Given the description of an element on the screen output the (x, y) to click on. 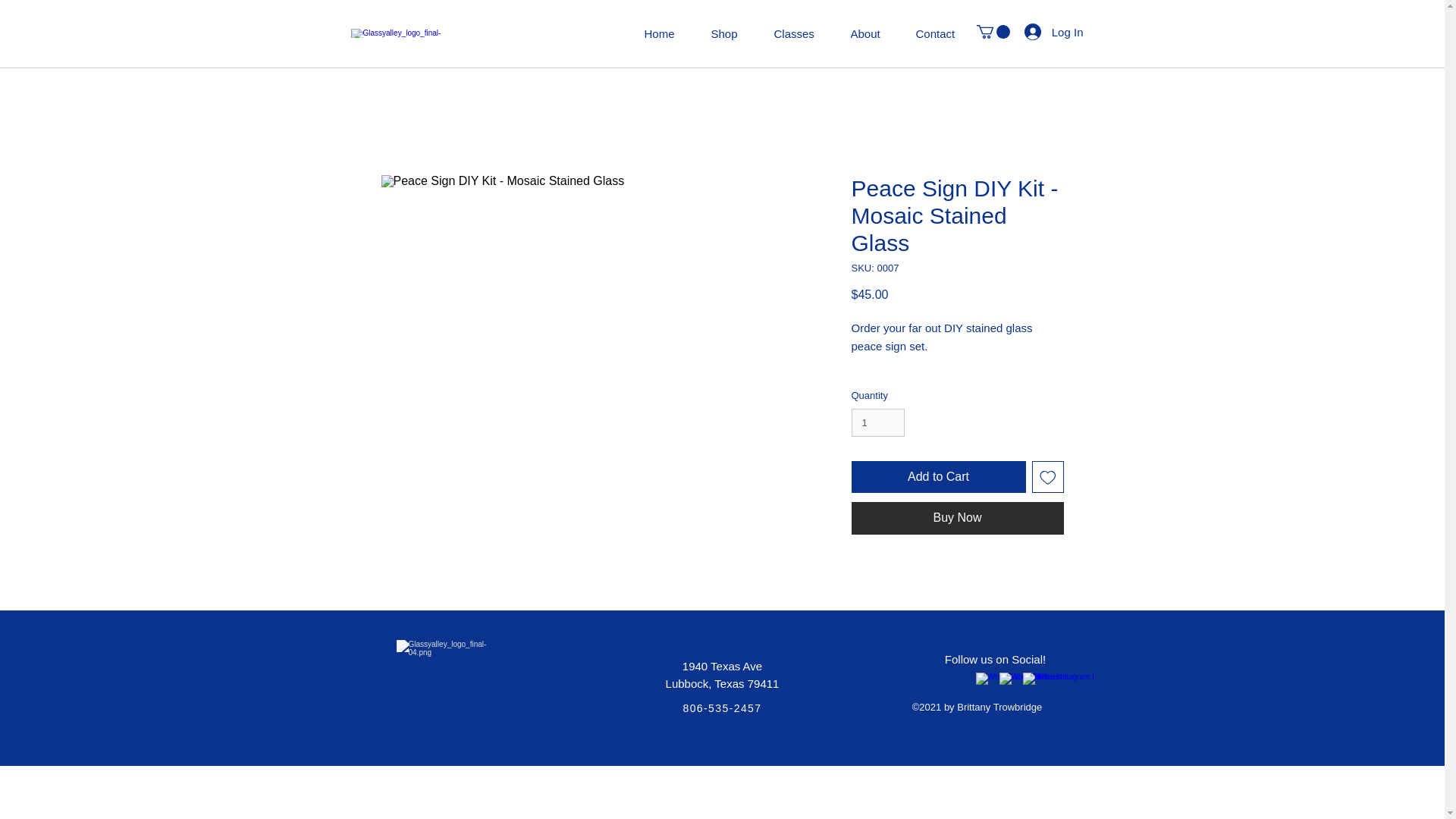
Lubbock, Texas 79411 (721, 683)
Log In (1053, 31)
Shop (741, 33)
Buy Now (956, 517)
Follow us on Social! (994, 658)
About (881, 33)
Home (676, 33)
1 (877, 422)
Contact (951, 33)
Add to Cart (937, 477)
